Given the description of an element on the screen output the (x, y) to click on. 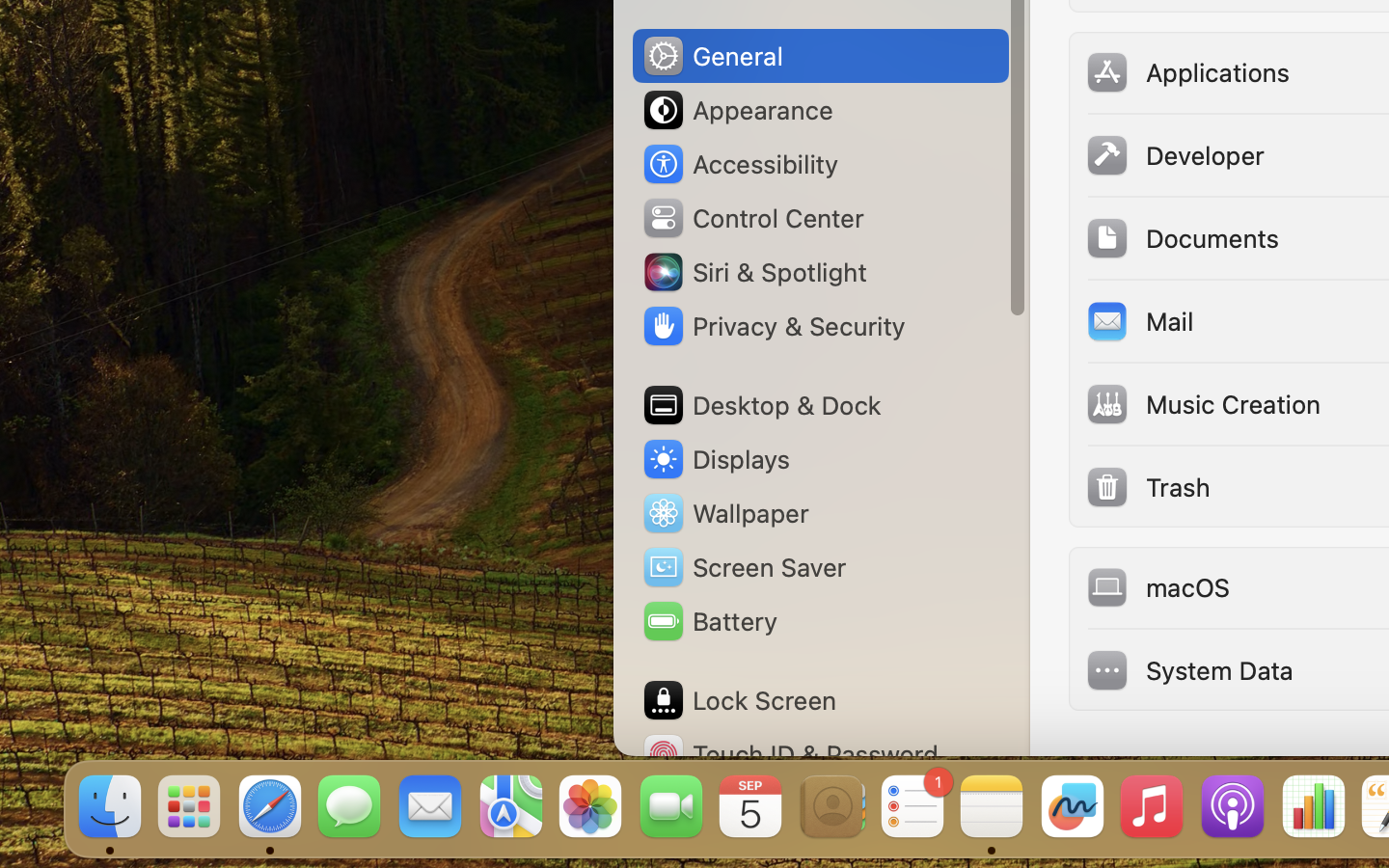
General Element type: AXStaticText (711, 55)
